Given the description of an element on the screen output the (x, y) to click on. 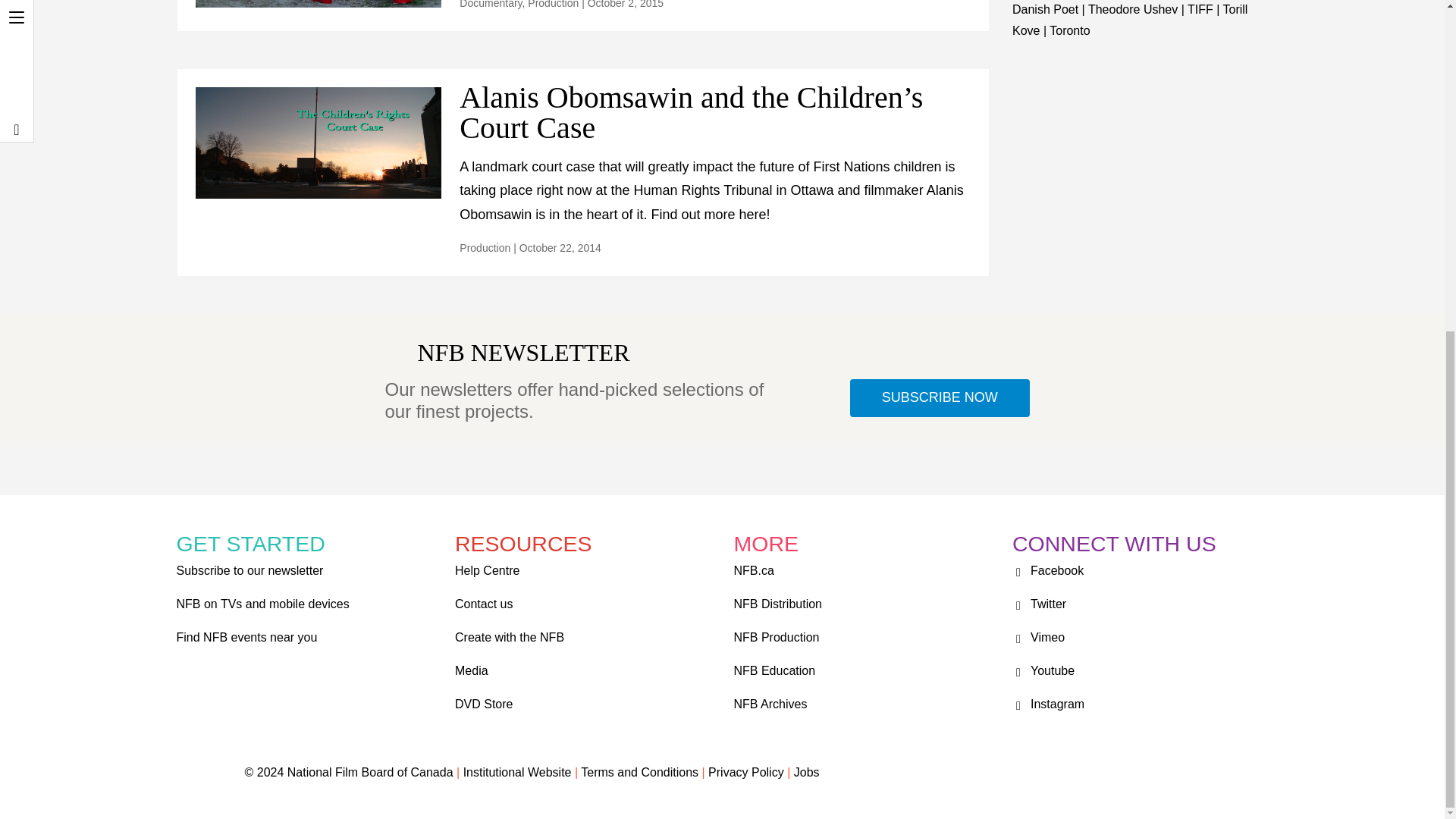
Youtube (1042, 670)
Twitter (1038, 603)
Vimeo (1037, 636)
Facebook (1047, 570)
